Given the description of an element on the screen output the (x, y) to click on. 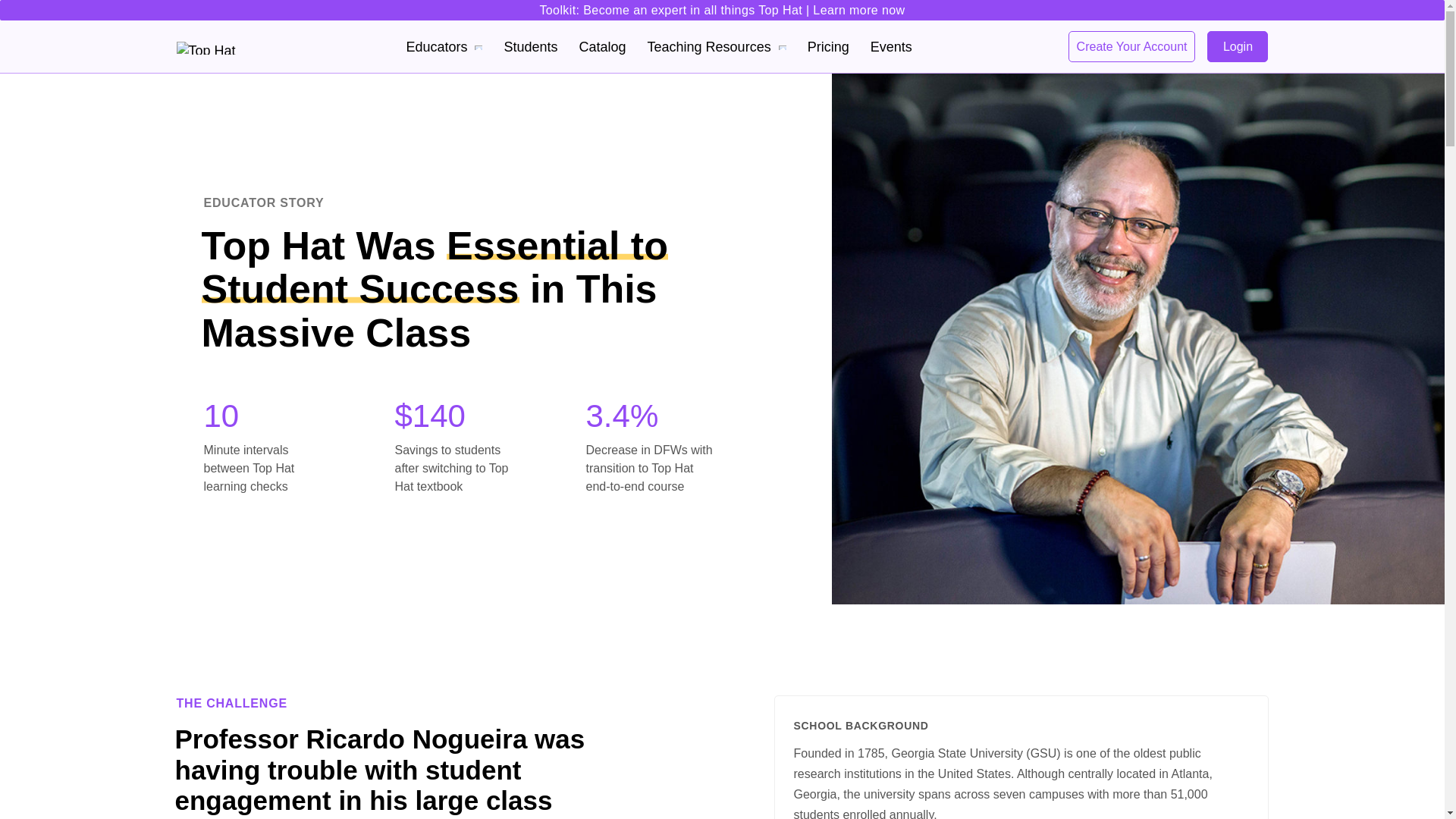
Students (530, 47)
Pricing (828, 47)
Teaching Resources (717, 47)
Catalog (602, 47)
Events (891, 47)
Create Your Account (1131, 46)
Educators (443, 47)
Login (1237, 46)
